Given the description of an element on the screen output the (x, y) to click on. 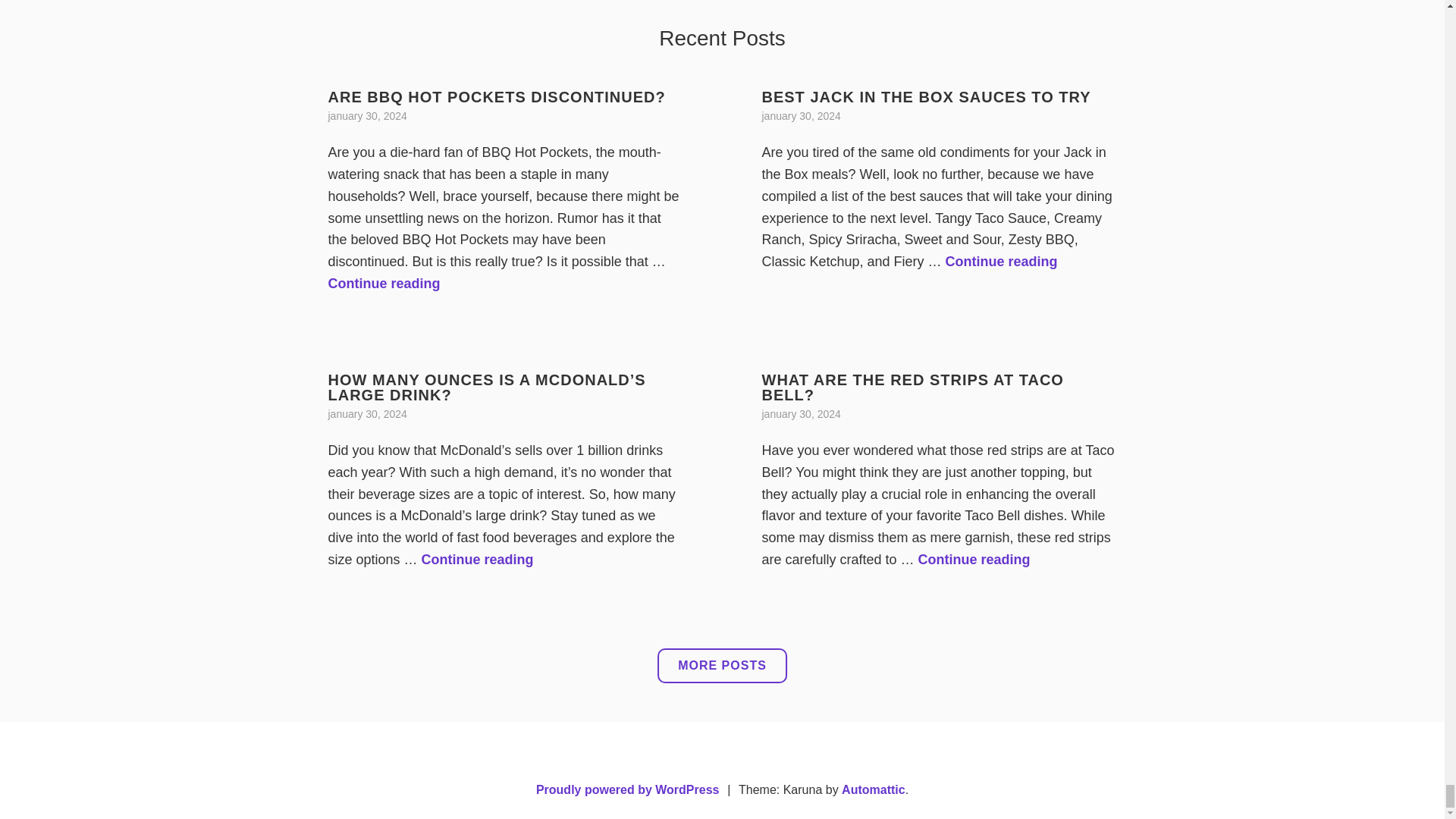
january 30, 2024 (366, 115)
january 30, 2024 (383, 283)
ARE BBQ HOT POCKETS DISCONTINUED? (800, 115)
BEST JACK IN THE BOX SAUCES TO TRY (1001, 261)
